Given the description of an element on the screen output the (x, y) to click on. 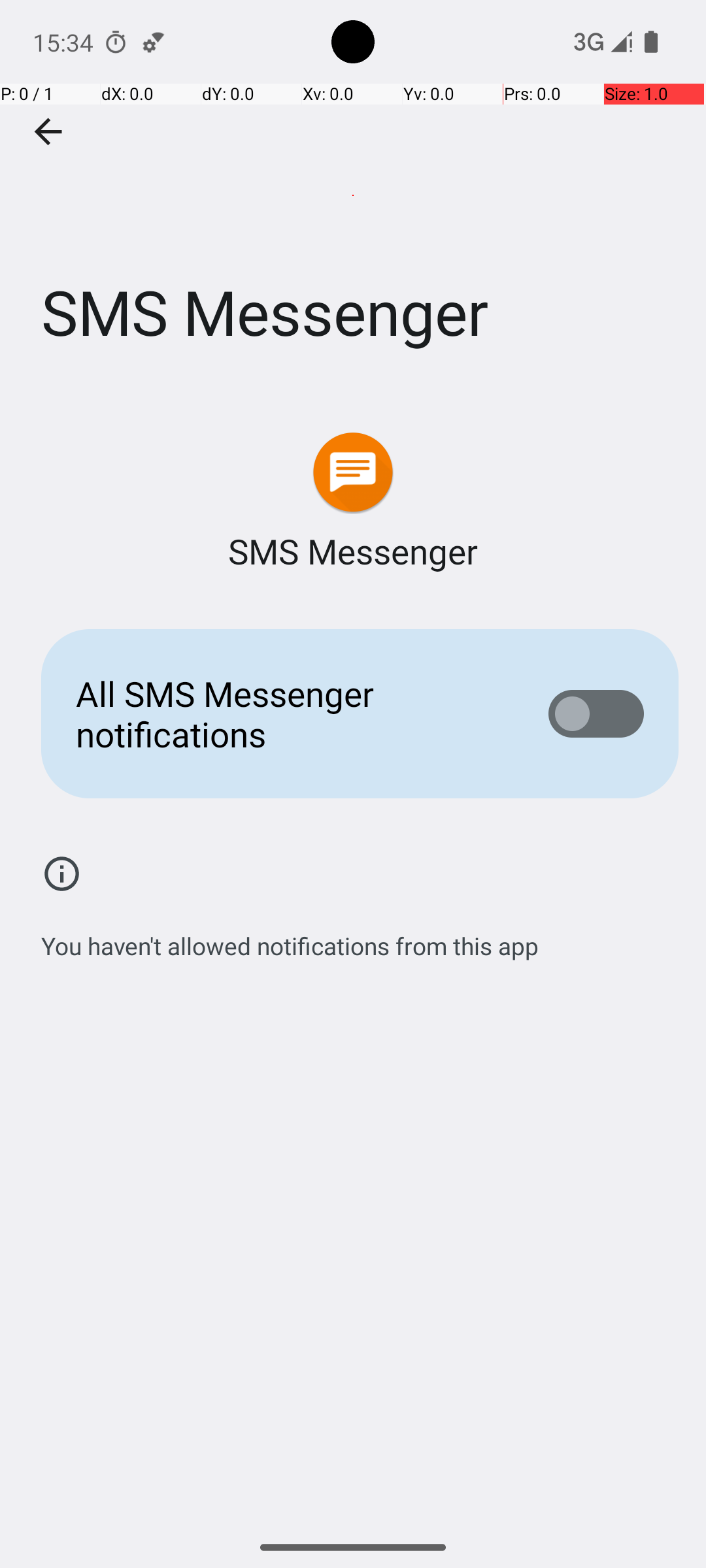
All SMS Messenger notifications Element type: android.widget.TextView (291, 713)
You haven't allowed notifications from this app Element type: android.widget.TextView (290, 938)
